Given the description of an element on the screen output the (x, y) to click on. 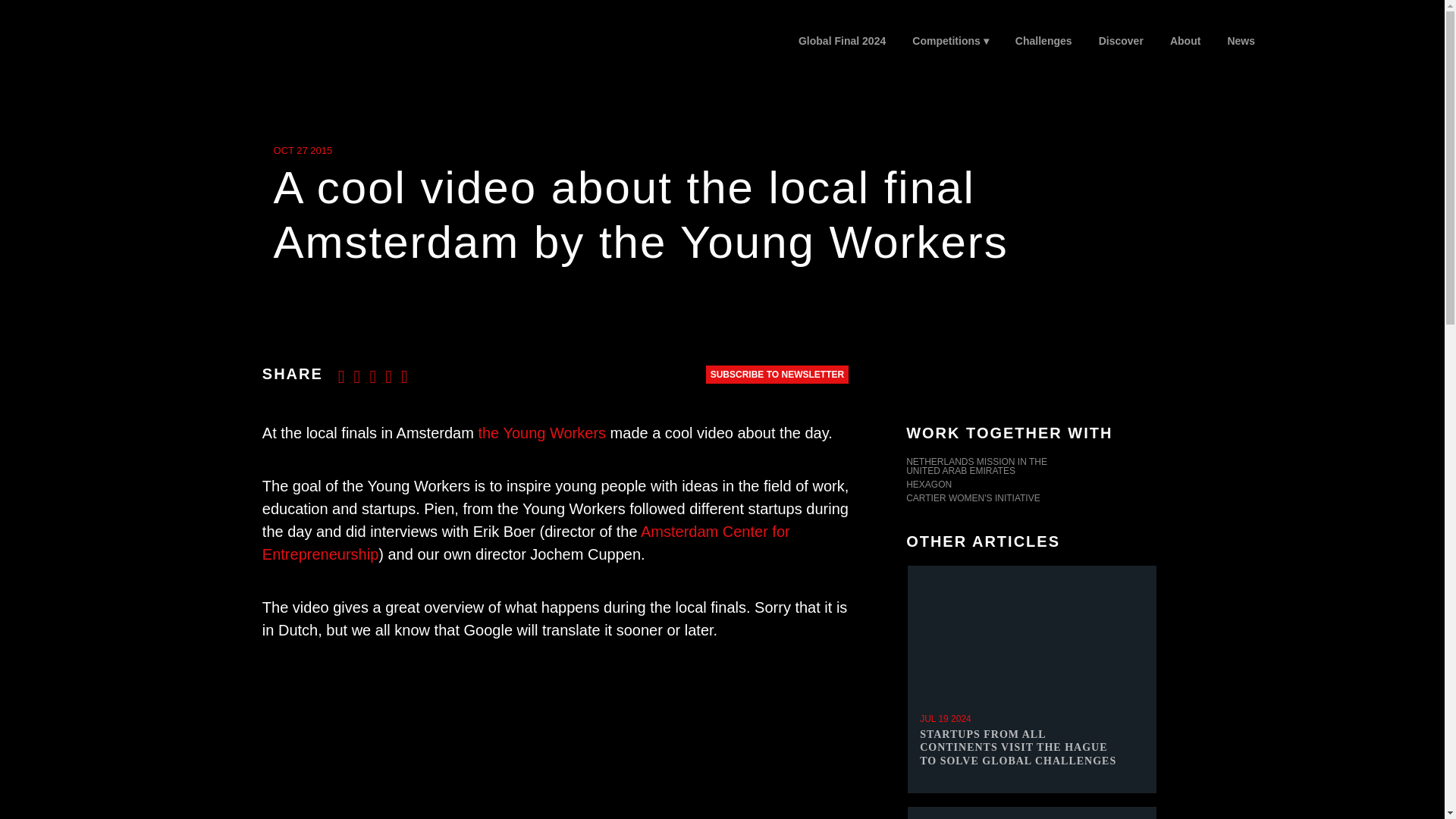
SUBSCRIBE TO NEWSLETTER (777, 374)
Get in the Ring (213, 43)
Amsterdam Center for Entrepreneurship (526, 542)
Challenges (1042, 41)
HEXAGON (1031, 486)
Global Final 2024 (841, 41)
Get in the Ring (232, 56)
CARTIER WOMEN'S INITIATIVE (1031, 499)
